Given the description of an element on the screen output the (x, y) to click on. 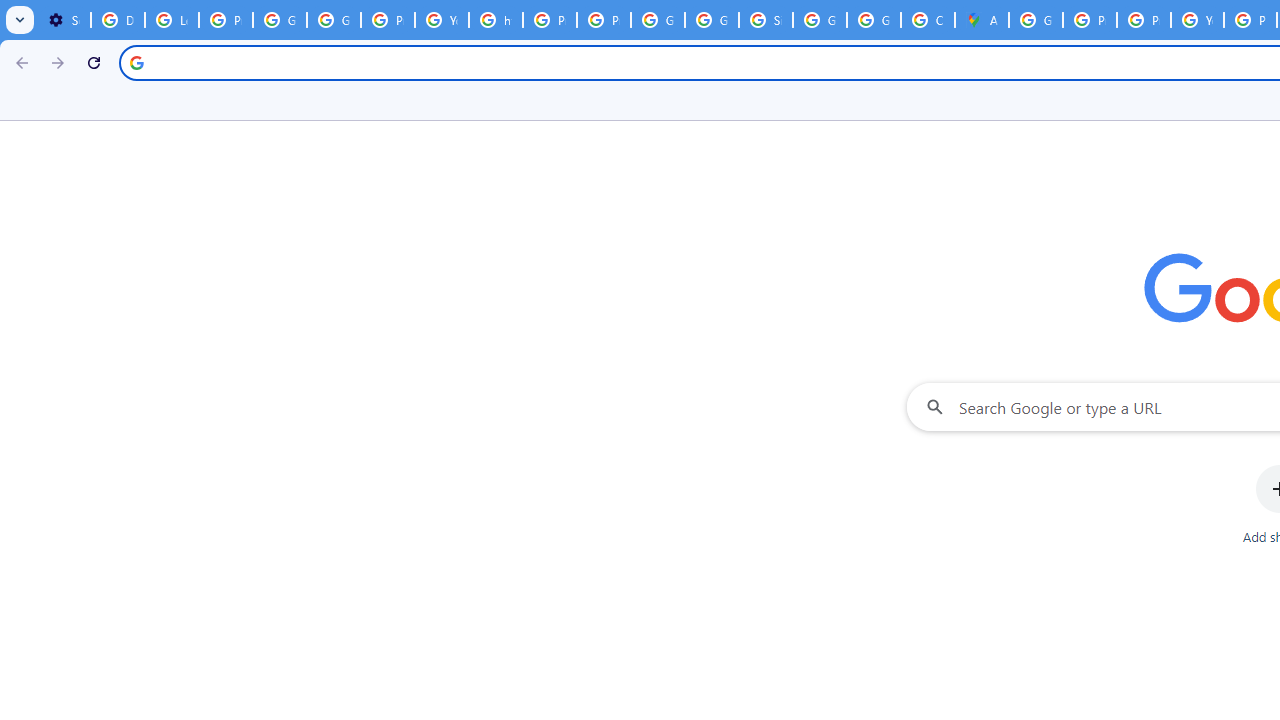
Privacy Help Center - Policies Help (1089, 20)
Settings - Performance (63, 20)
YouTube (1197, 20)
